Given the description of an element on the screen output the (x, y) to click on. 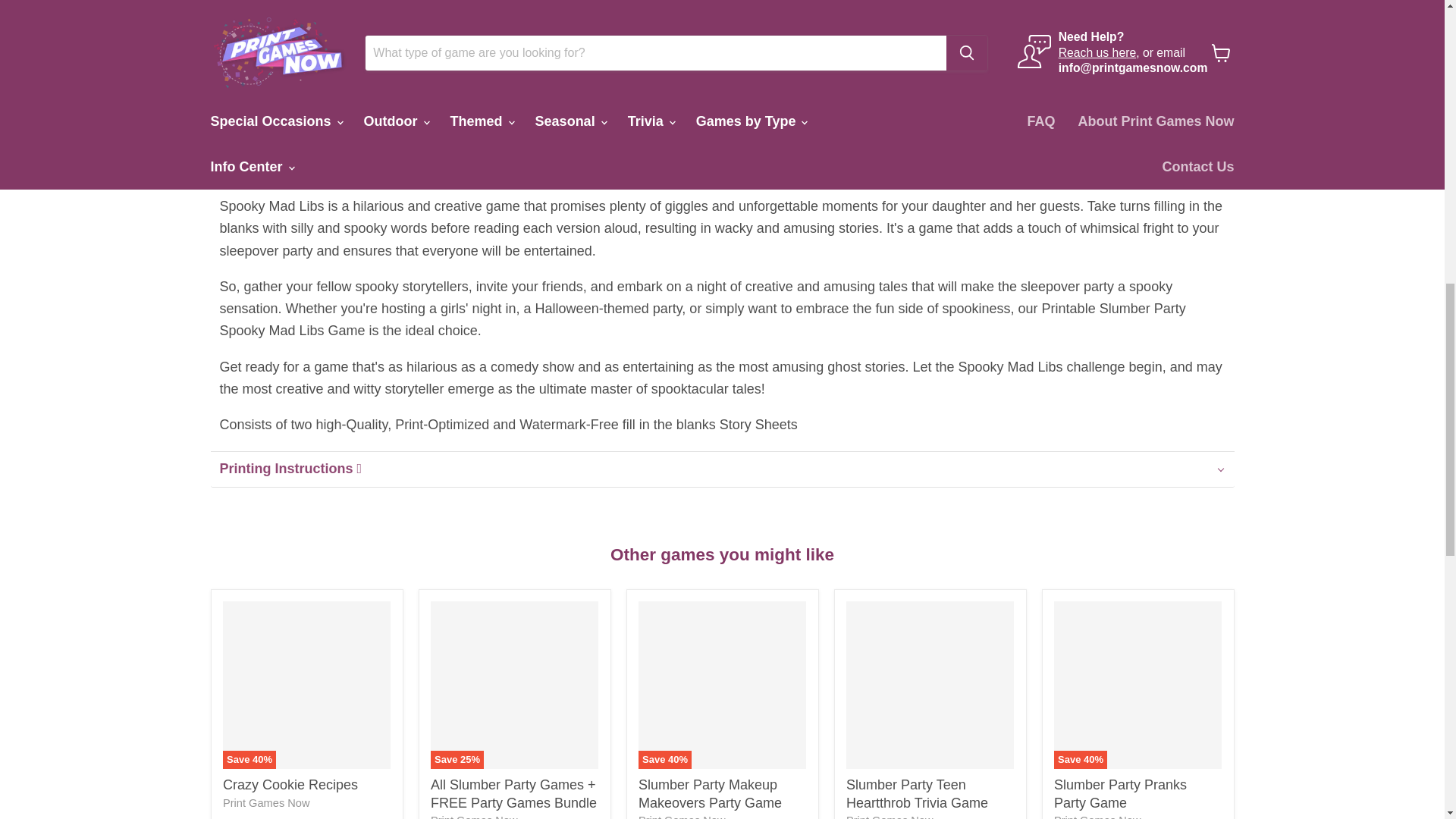
Print Games Now (889, 816)
Print Games Now (473, 816)
Print Games Now (265, 802)
Print Games Now (682, 816)
Print Games Now (1097, 816)
